Given the description of an element on the screen output the (x, y) to click on. 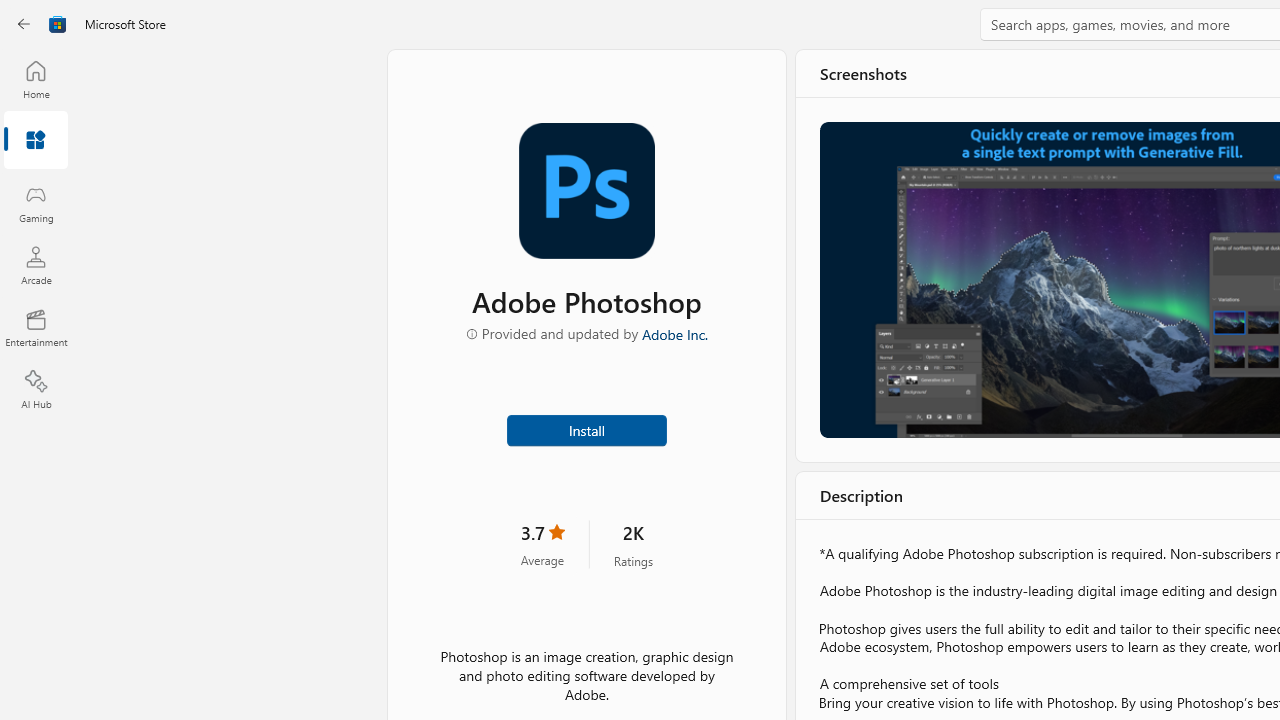
AI Hub (35, 390)
Home (35, 79)
Class: Image (58, 24)
Apps (35, 141)
Entertainment (35, 327)
Gaming (35, 203)
Adobe Inc. (674, 333)
Install (586, 428)
Arcade (35, 265)
Back (24, 24)
3.7 stars. Click to skip to ratings and reviews (541, 543)
